Given the description of an element on the screen output the (x, y) to click on. 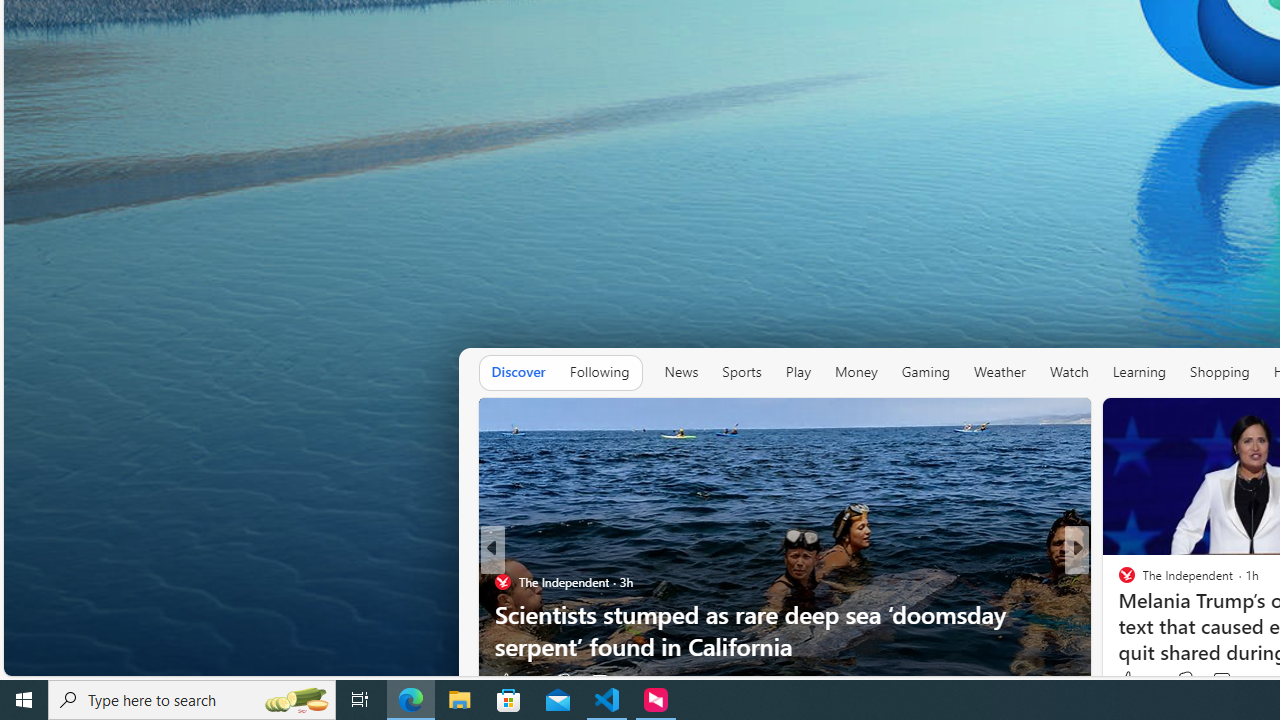
View comments 8 Comment (1215, 681)
View comments 237 Comment (1227, 681)
The Telegraph (1117, 581)
CBS News (1117, 581)
Shopping (1219, 371)
Learning (1138, 371)
FOX News (1117, 581)
View comments 133 Comment (1233, 680)
Newsweek (1117, 581)
The Independent (1117, 581)
View comments 133 Comment (1220, 679)
